Given the description of an element on the screen output the (x, y) to click on. 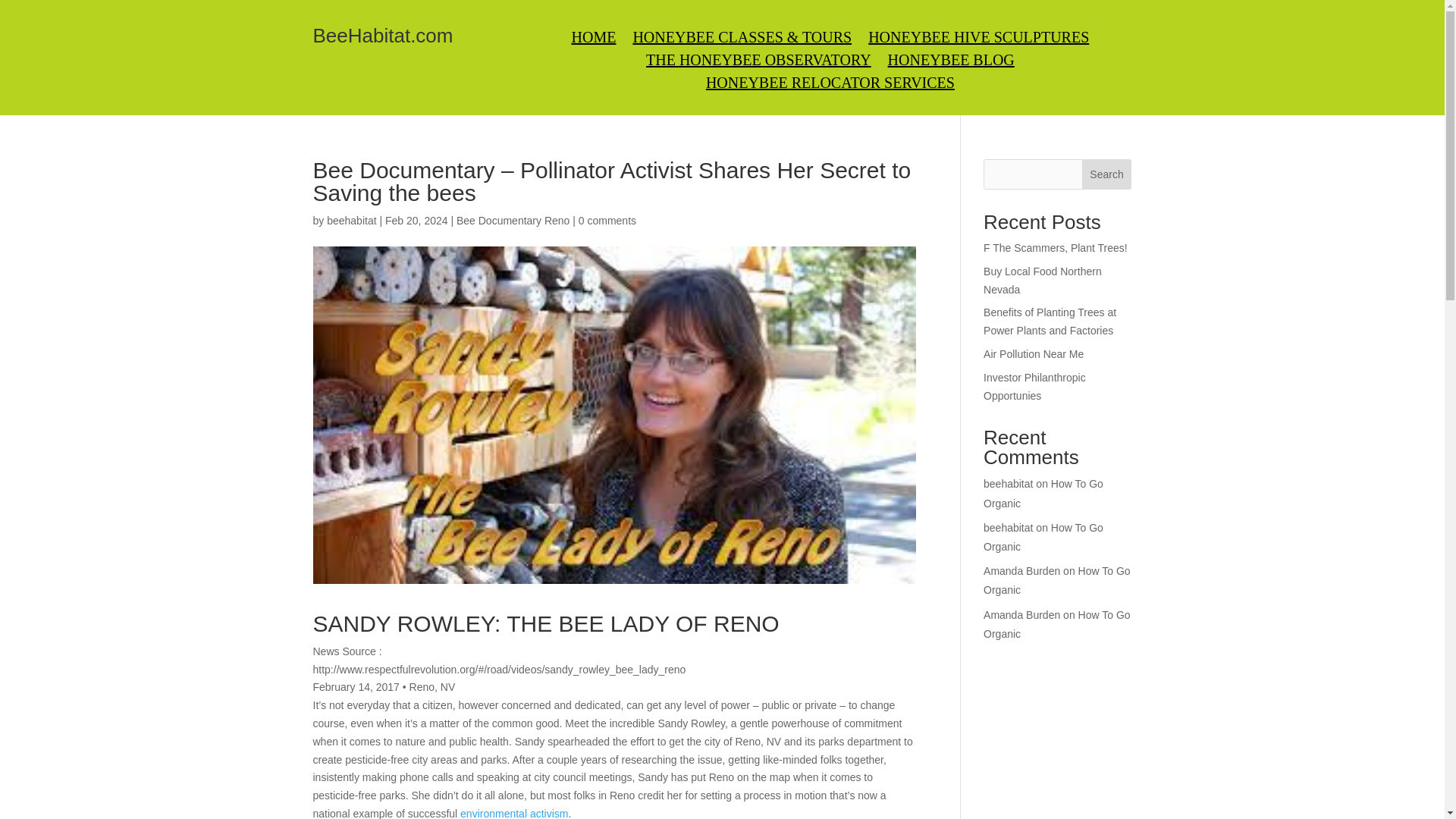
HONEYBEE BLOG (951, 62)
THE HONEYBEE OBSERVATORY (758, 62)
Search (1106, 173)
Amanda Burden (1021, 571)
Posts by beehabitat (350, 220)
How To Go Organic (1057, 623)
HONEYBEE HIVE SCULPTURES (978, 39)
beehabitat (350, 220)
Air Pollution Near Me (1033, 354)
How To Go Organic (1043, 492)
